Given the description of an element on the screen output the (x, y) to click on. 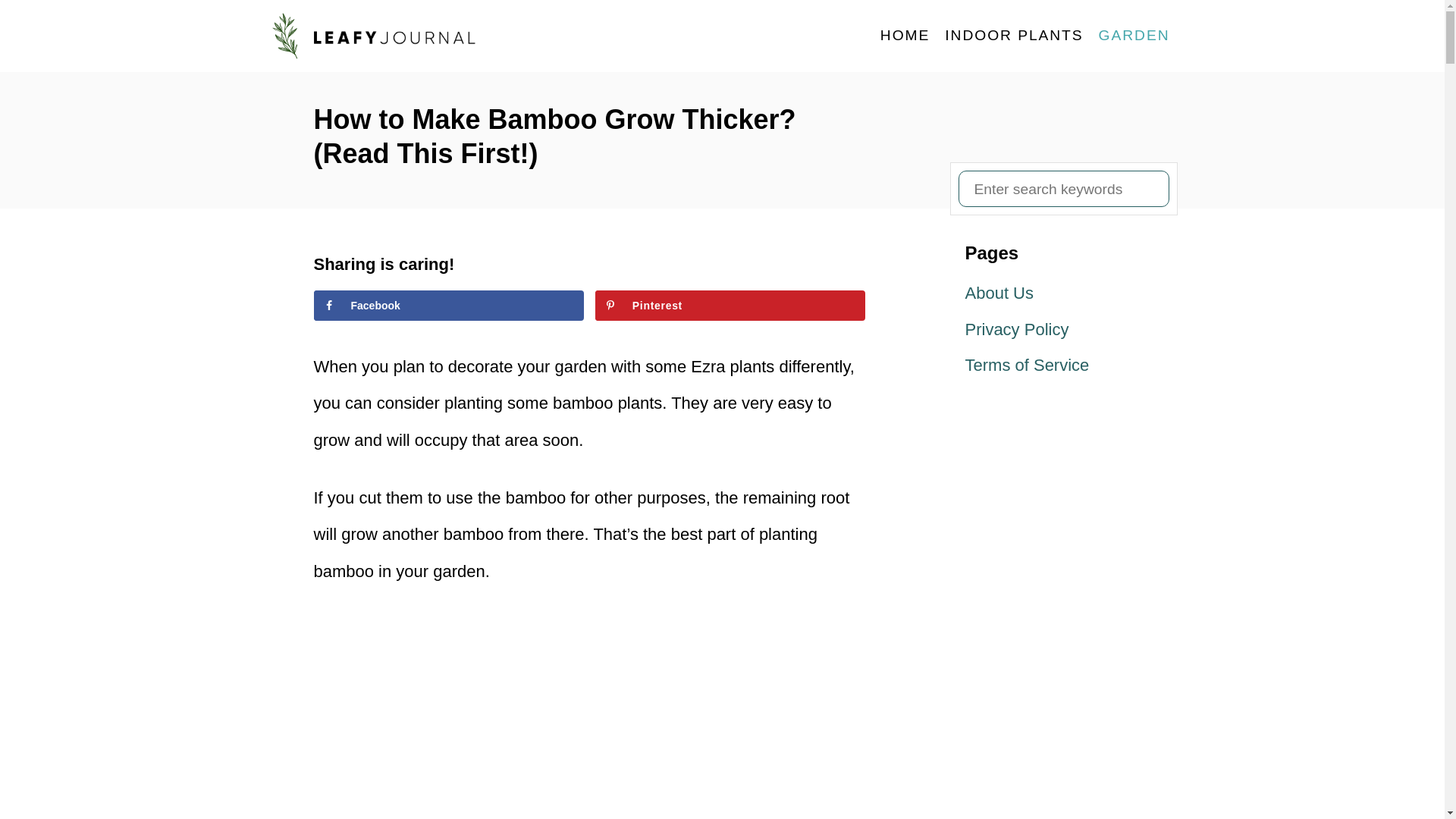
GARDEN (1133, 35)
Pinterest (730, 305)
Privacy Policy (1062, 330)
INDOOR PLANTS (1013, 35)
Search (22, 22)
HOME (904, 35)
LeafyJournal (403, 36)
Facebook (449, 305)
About Us (1062, 293)
Save to Pinterest (730, 305)
